Given the description of an element on the screen output the (x, y) to click on. 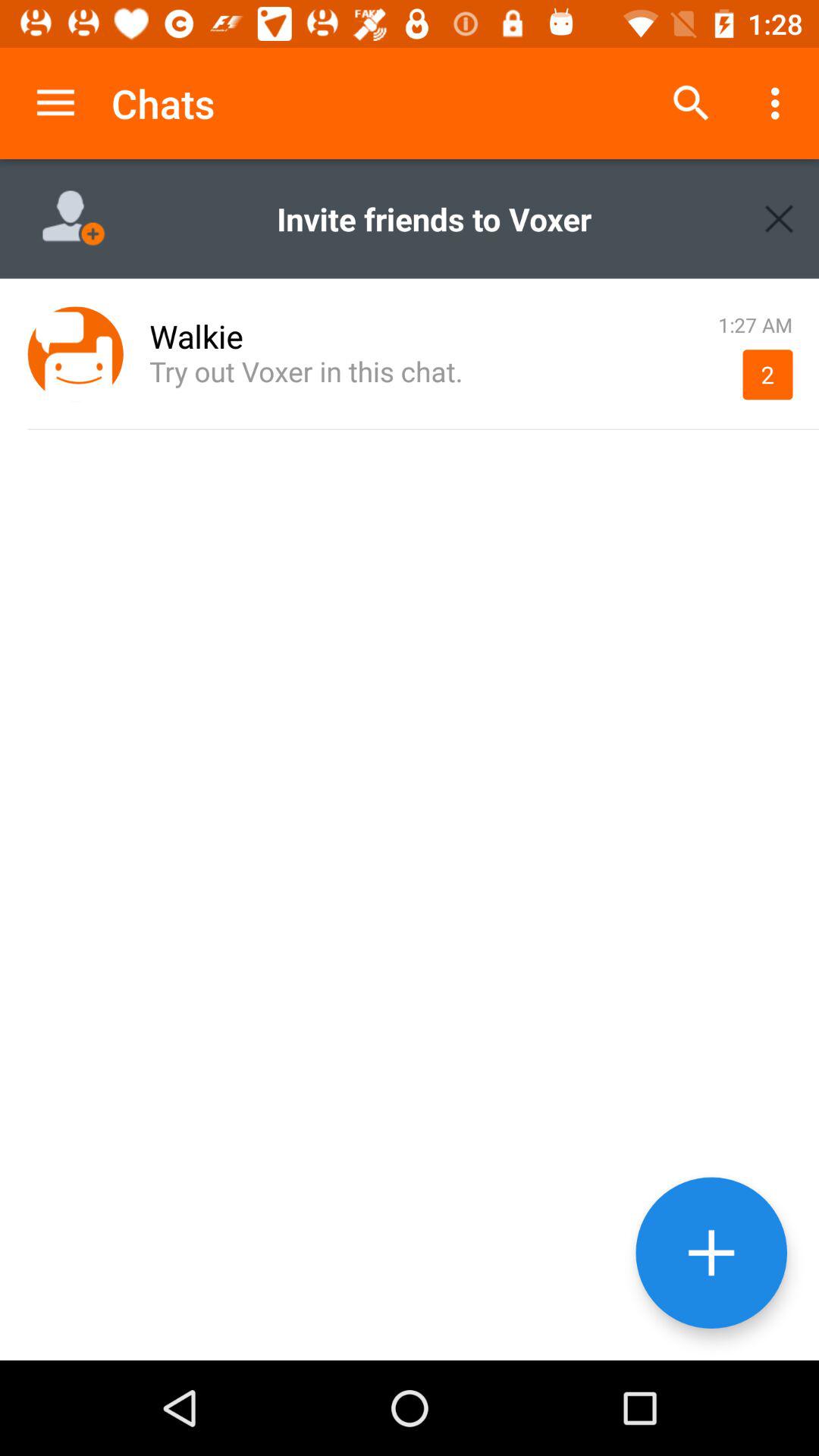
select the add option (711, 1252)
